Given the description of an element on the screen output the (x, y) to click on. 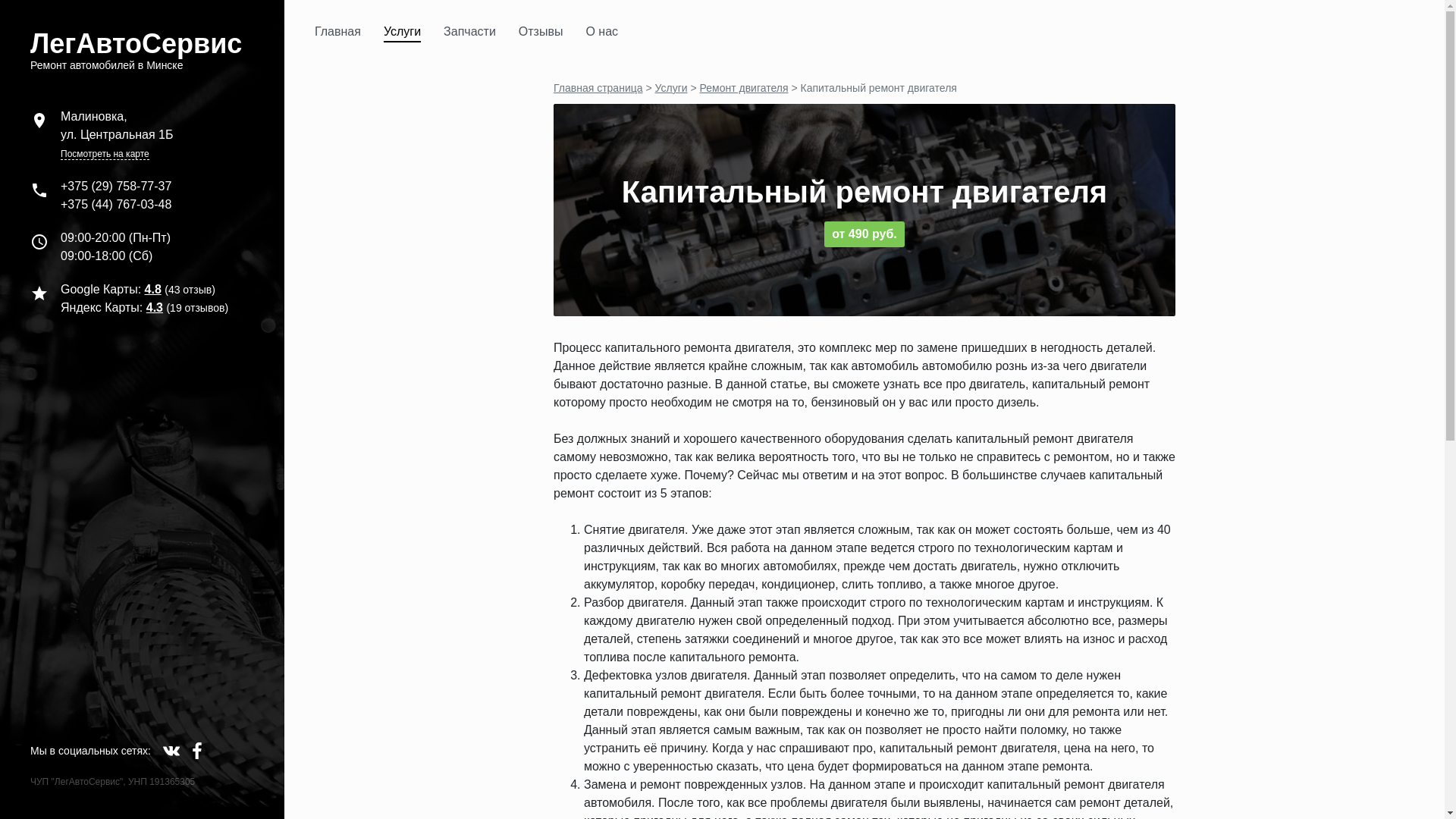
4.8 Element type: text (152, 288)
4.3 Element type: text (154, 307)
+375 (44) 767-03-48 Element type: text (115, 203)
Facebook Element type: hover (197, 750)
+375 (29) 758-77-37 Element type: text (115, 185)
